Given the description of an element on the screen output the (x, y) to click on. 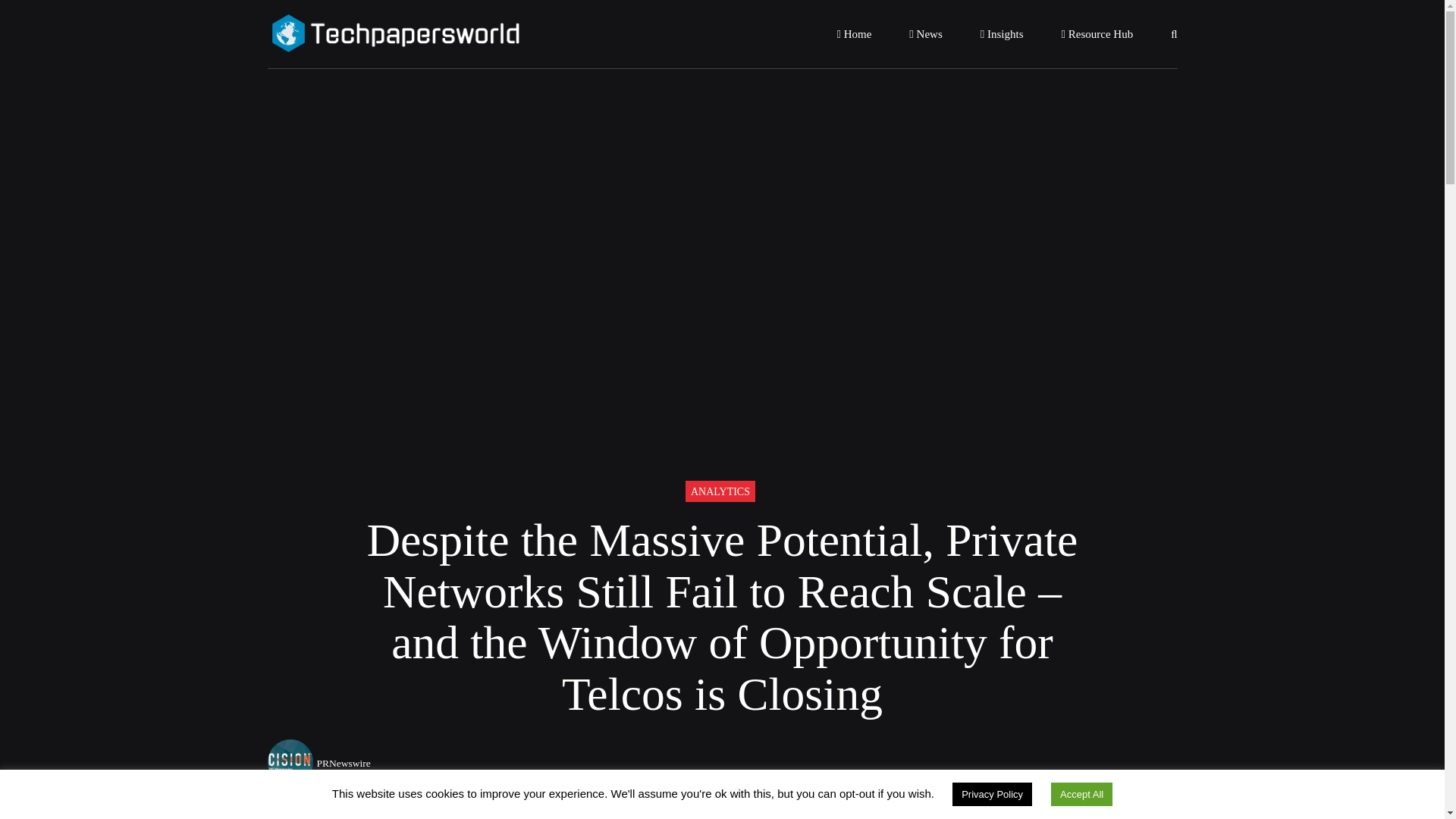
Resource Hub (1097, 33)
ANALYTICS (720, 490)
PRNewswire (344, 763)
